Given the description of an element on the screen output the (x, y) to click on. 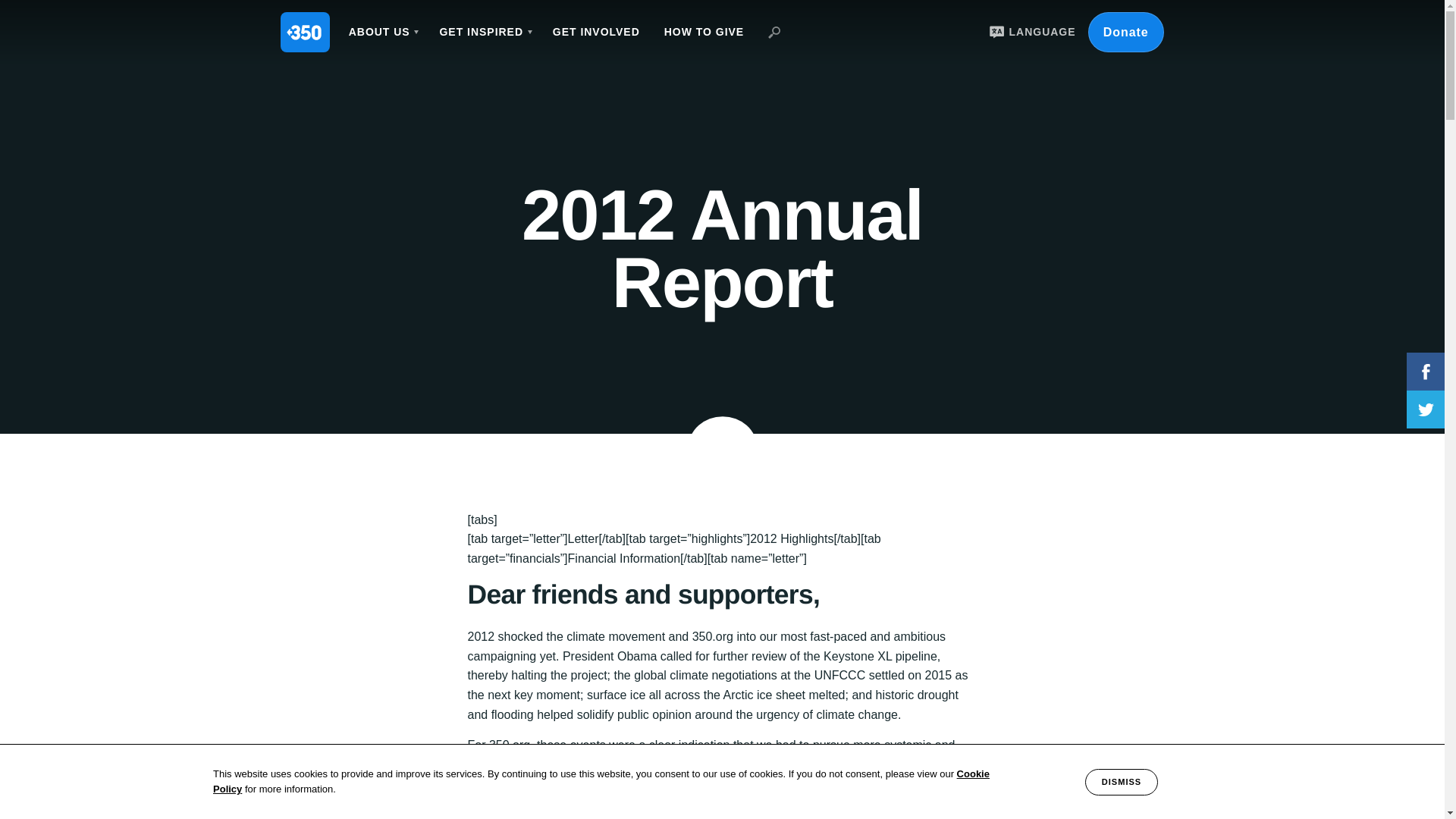
ABOUT US (382, 32)
GET INSPIRED (483, 32)
LANGUAGE (1029, 32)
HOW TO GIVE (703, 32)
GET INVOLVED (596, 32)
350 (305, 32)
Donate (1125, 32)
